Given the description of an element on the screen output the (x, y) to click on. 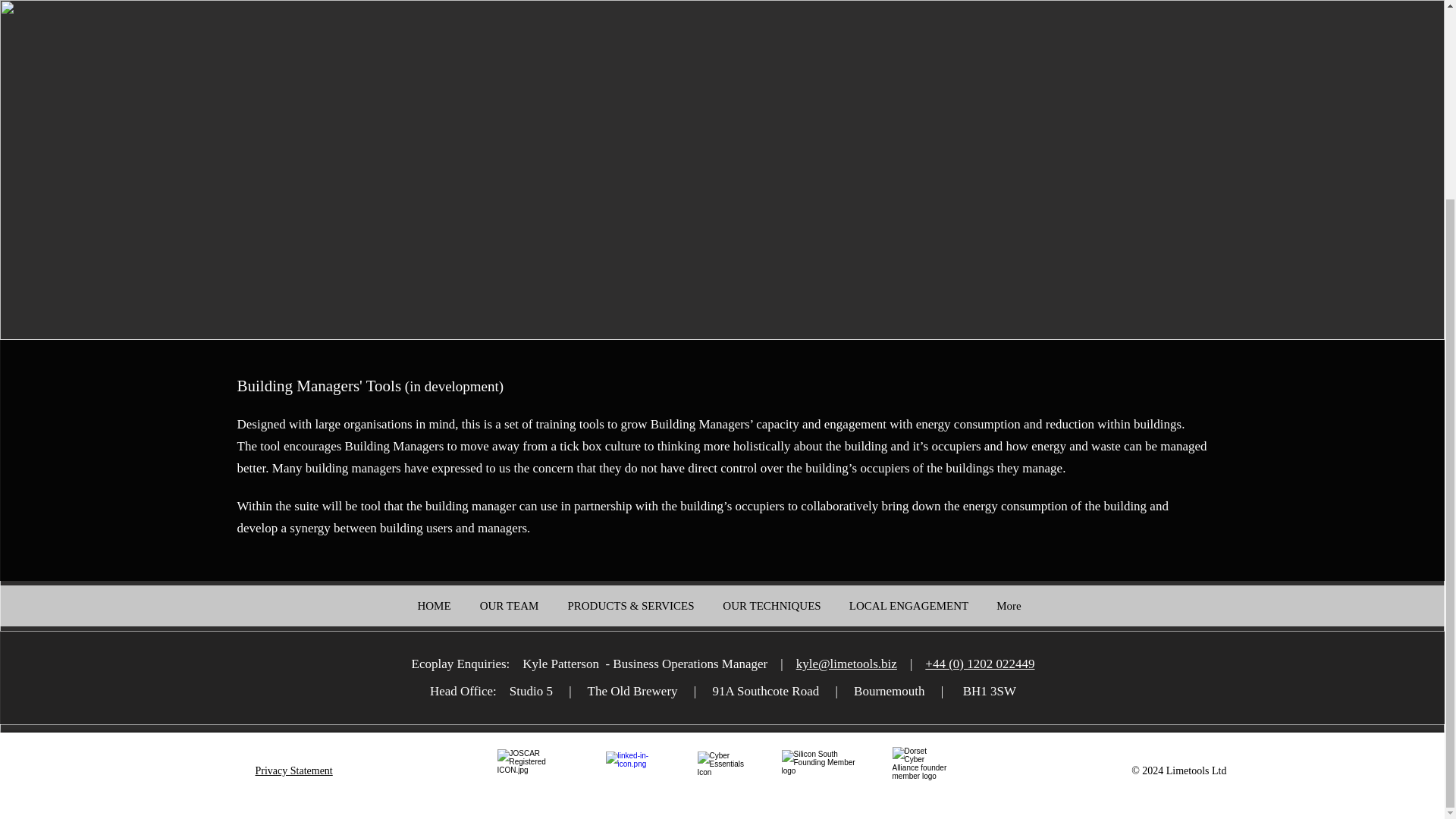
OUR TEAM (509, 605)
LOCAL ENGAGEMENT (908, 605)
Privacy Statement (292, 770)
OUR TECHNIQUES (770, 605)
HOME (434, 605)
